Given the description of an element on the screen output the (x, y) to click on. 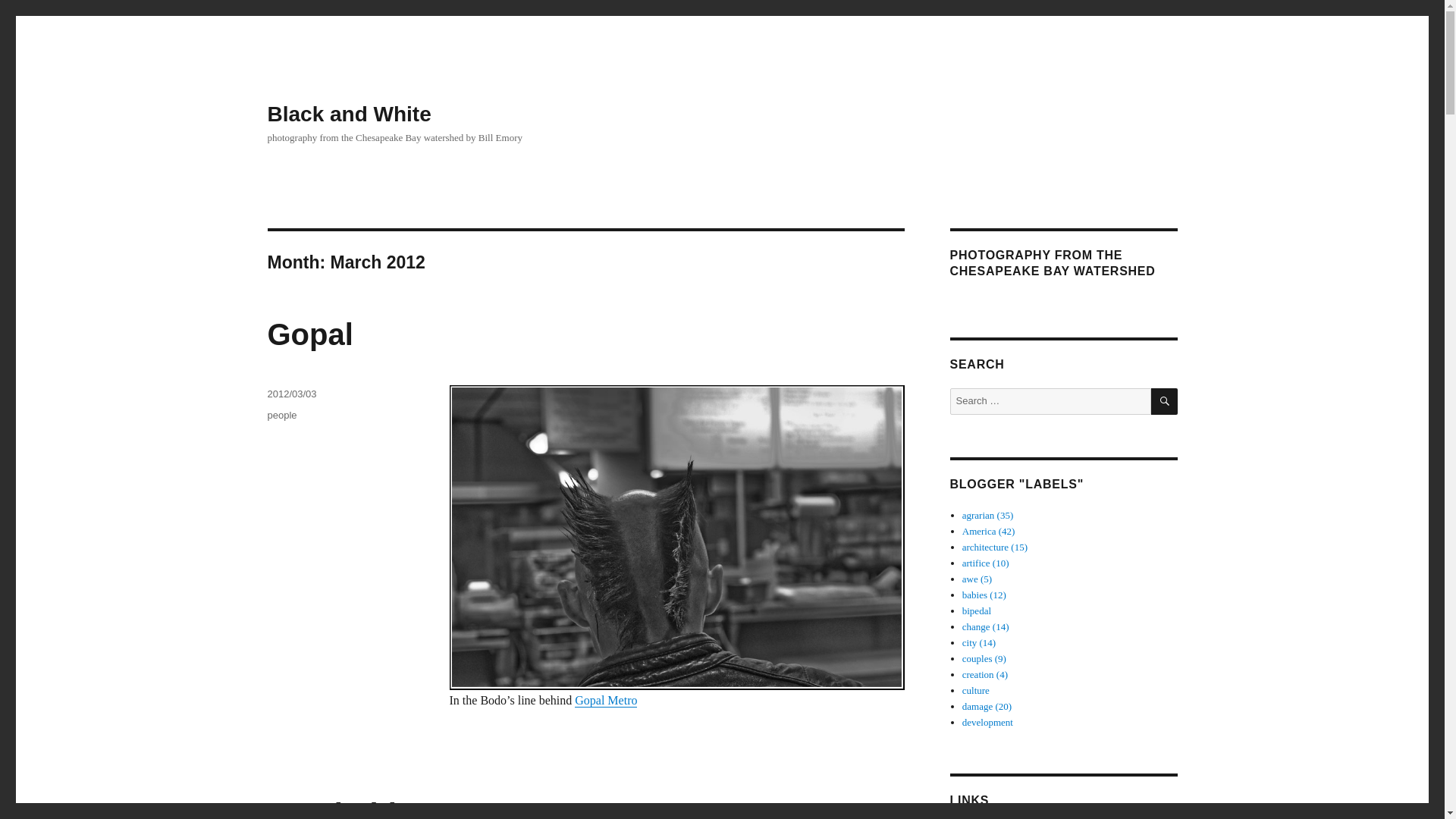
young humans, the inglorious place we start (984, 594)
Black and White (348, 114)
two of something (984, 658)
Gopal Metro (606, 699)
bipedal (976, 610)
SEARCH (1164, 401)
